Given the description of an element on the screen output the (x, y) to click on. 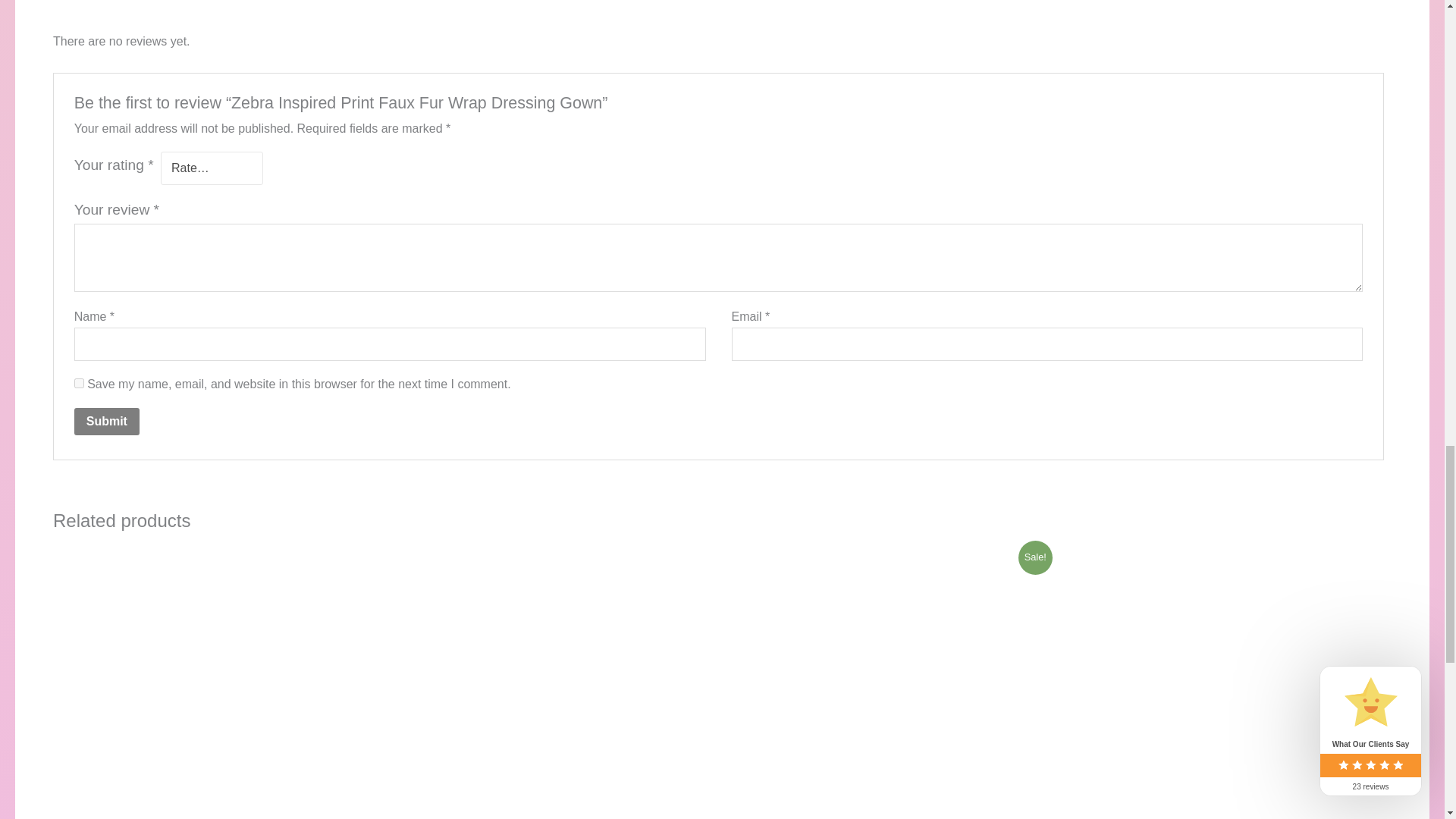
yes (79, 383)
Submit (106, 420)
